Given the description of an element on the screen output the (x, y) to click on. 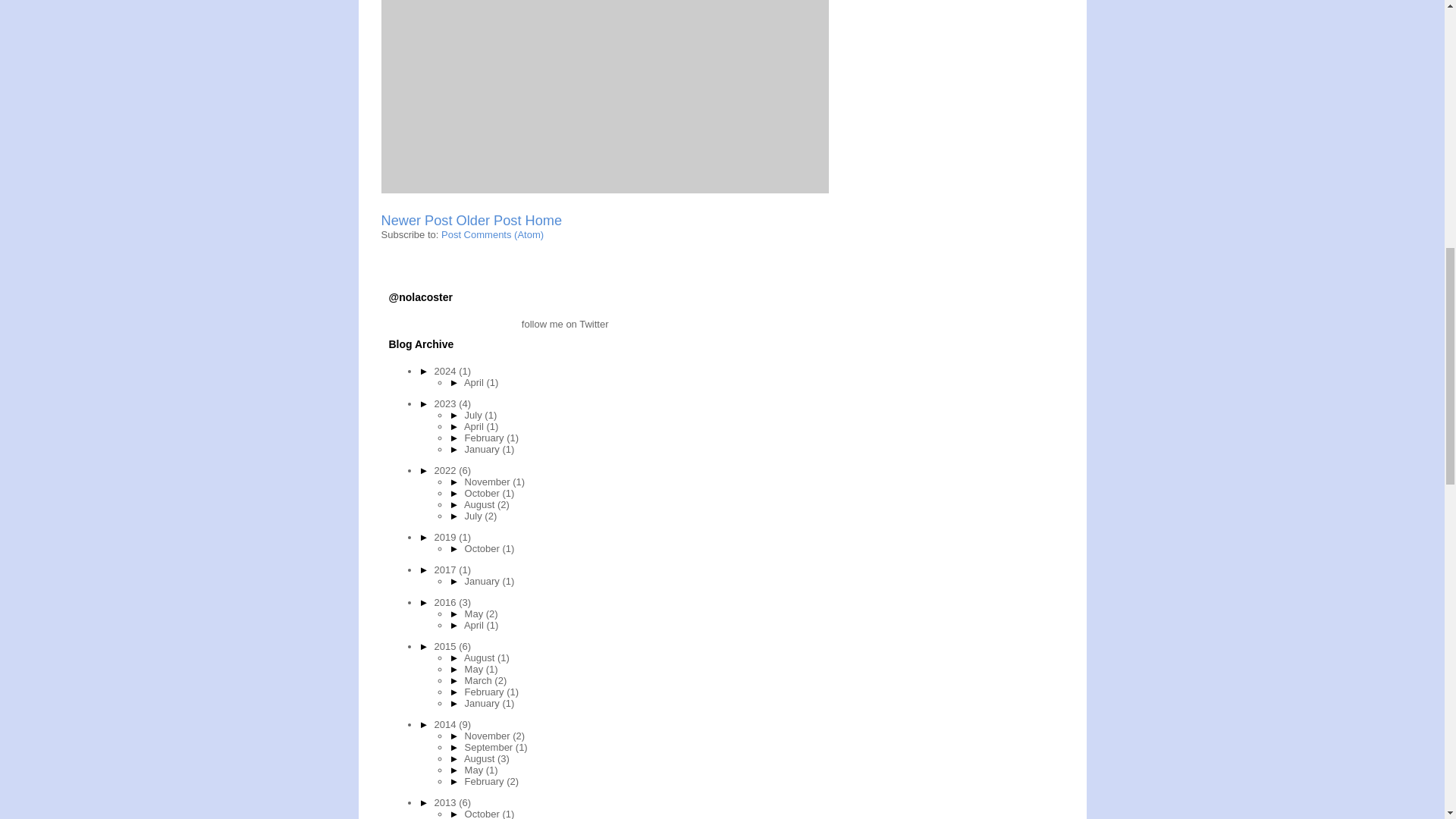
August (480, 504)
February (485, 437)
November (488, 481)
follow me on Twitter (498, 324)
October (483, 492)
July (474, 515)
2022 (446, 470)
2024 (446, 370)
Home (543, 220)
Newer Post (415, 220)
January (483, 449)
Older Post (489, 220)
2023 (446, 403)
Newer Post (415, 220)
July (474, 414)
